Given the description of an element on the screen output the (x, y) to click on. 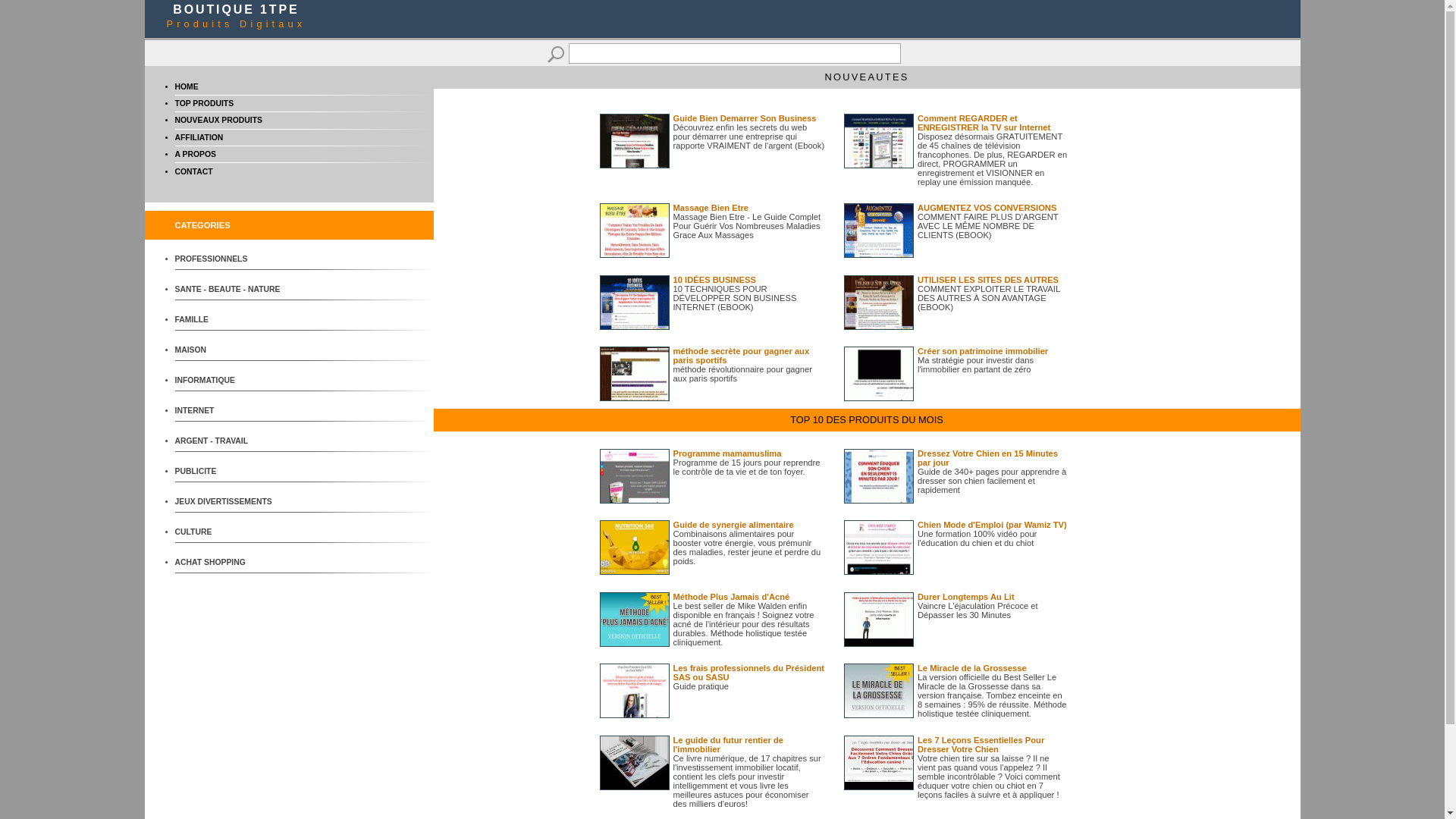
AFFILIATION Element type: text (198, 137)
INTERNET Element type: text (231, 410)
ARGENT - TRAVAIL Element type: text (231, 440)
Dressez Votre Chien en 15 Minutes par jour Element type: text (987, 457)
Guide pratique Element type: text (700, 685)
Le guide du futur rentier de l'immobilier Element type: text (728, 744)
NOUVEAUX PRODUITS Element type: text (217, 120)
PROFESSIONNELS Element type: text (231, 258)
CONTACT Element type: text (193, 171)
Programme mamamuslima Element type: text (727, 453)
CULTURE Element type: text (231, 531)
FAMILLE Element type: text (231, 319)
HOME Element type: text (185, 86)
MAISON Element type: text (231, 349)
ACHAT SHOPPING Element type: text (231, 562)
JEUX DIVERTISSEMENTS Element type: text (231, 501)
INFORMATIQUE Element type: text (231, 380)
Guide de synergie alimentaire Element type: text (733, 524)
UTILISER LES SITES DES AUTRES Element type: text (987, 279)
Comment REGARDER et ENREGISTRER la TV sur Internet Element type: text (983, 122)
Chien Mode d'Emploi (par Wamiz TV) Element type: text (991, 524)
A PROPOS Element type: text (194, 154)
PUBLICITE Element type: text (231, 471)
TOP PRODUITS Element type: text (203, 103)
SANTE - BEAUTE - NATURE Element type: text (231, 289)
Le Miracle de la Grossesse Element type: text (971, 667)
Massage Bien Etre Element type: text (711, 207)
Guide Bien Demarrer Son Business Element type: text (744, 117)
AUGMENTEZ VOS CONVERSIONS Element type: text (986, 207)
Durer Longtemps Au Lit Element type: text (965, 596)
